Given the description of an element on the screen output the (x, y) to click on. 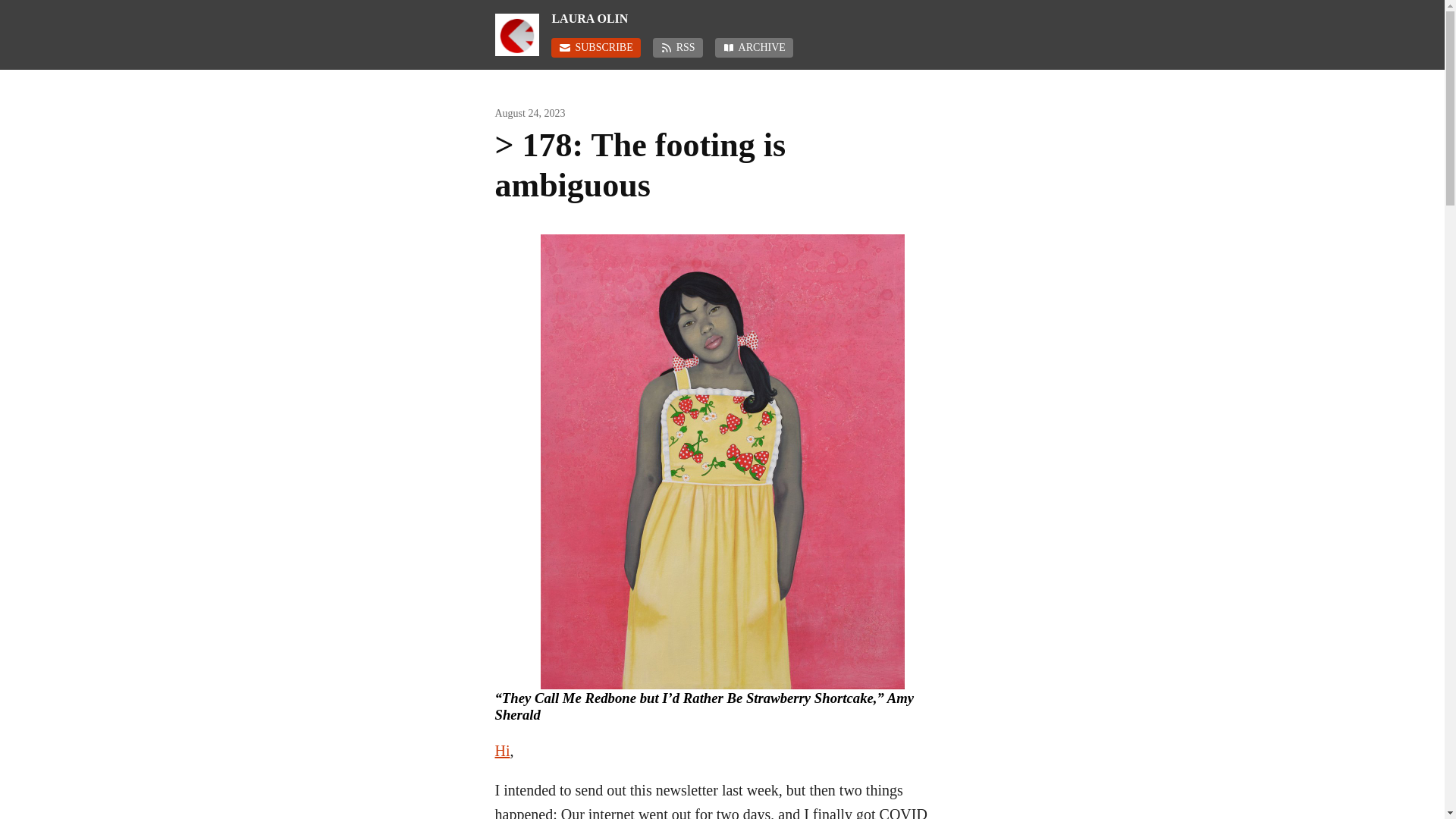
Hi (502, 750)
SUBSCRIBE (595, 47)
RSS (677, 47)
LAURA OLIN (750, 18)
ARCHIVE (753, 47)
